Given the description of an element on the screen output the (x, y) to click on. 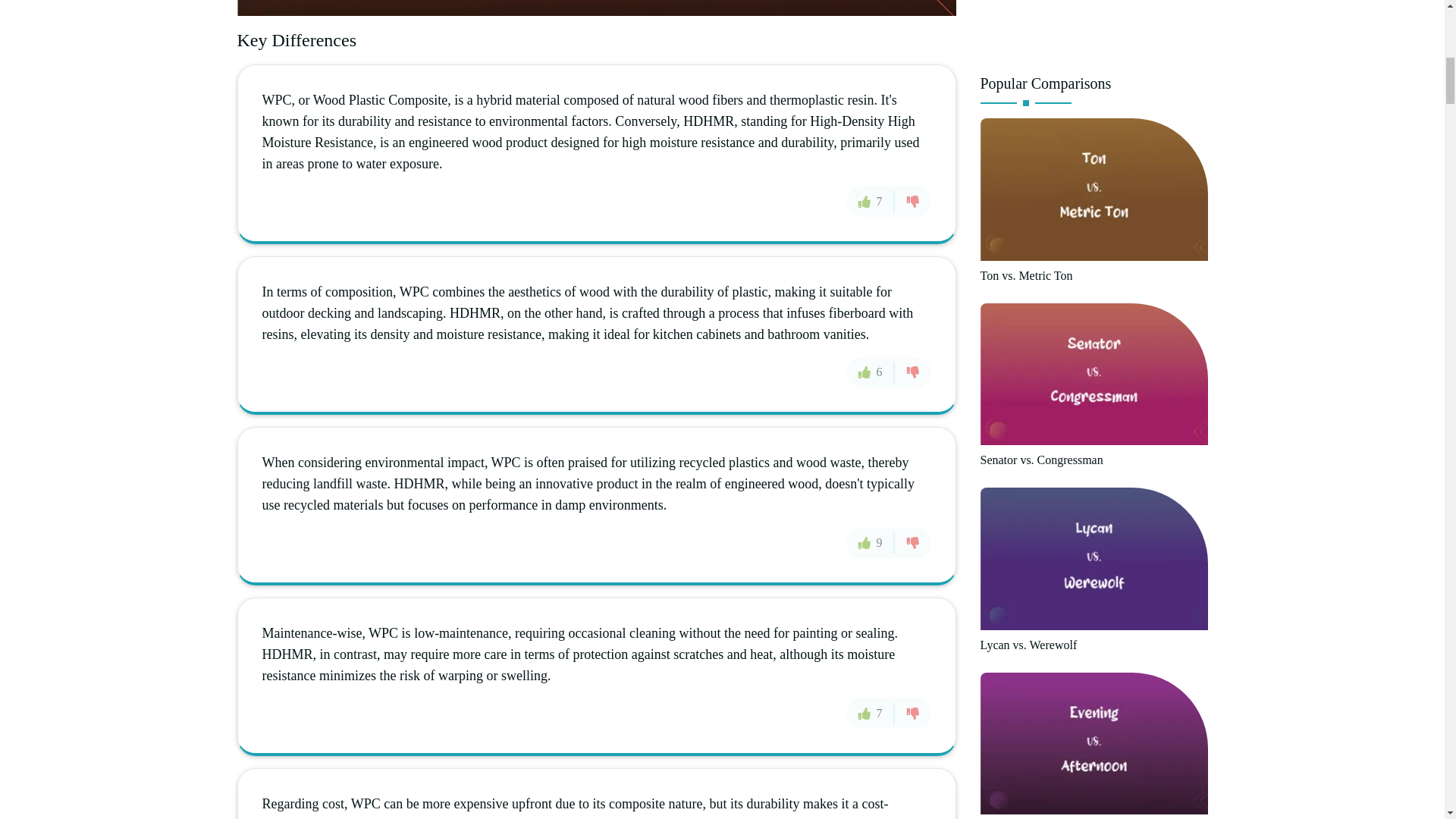
Advertisement (1093, 30)
9 (870, 542)
6 (870, 371)
7 (870, 201)
7 (870, 712)
